Given the description of an element on the screen output the (x, y) to click on. 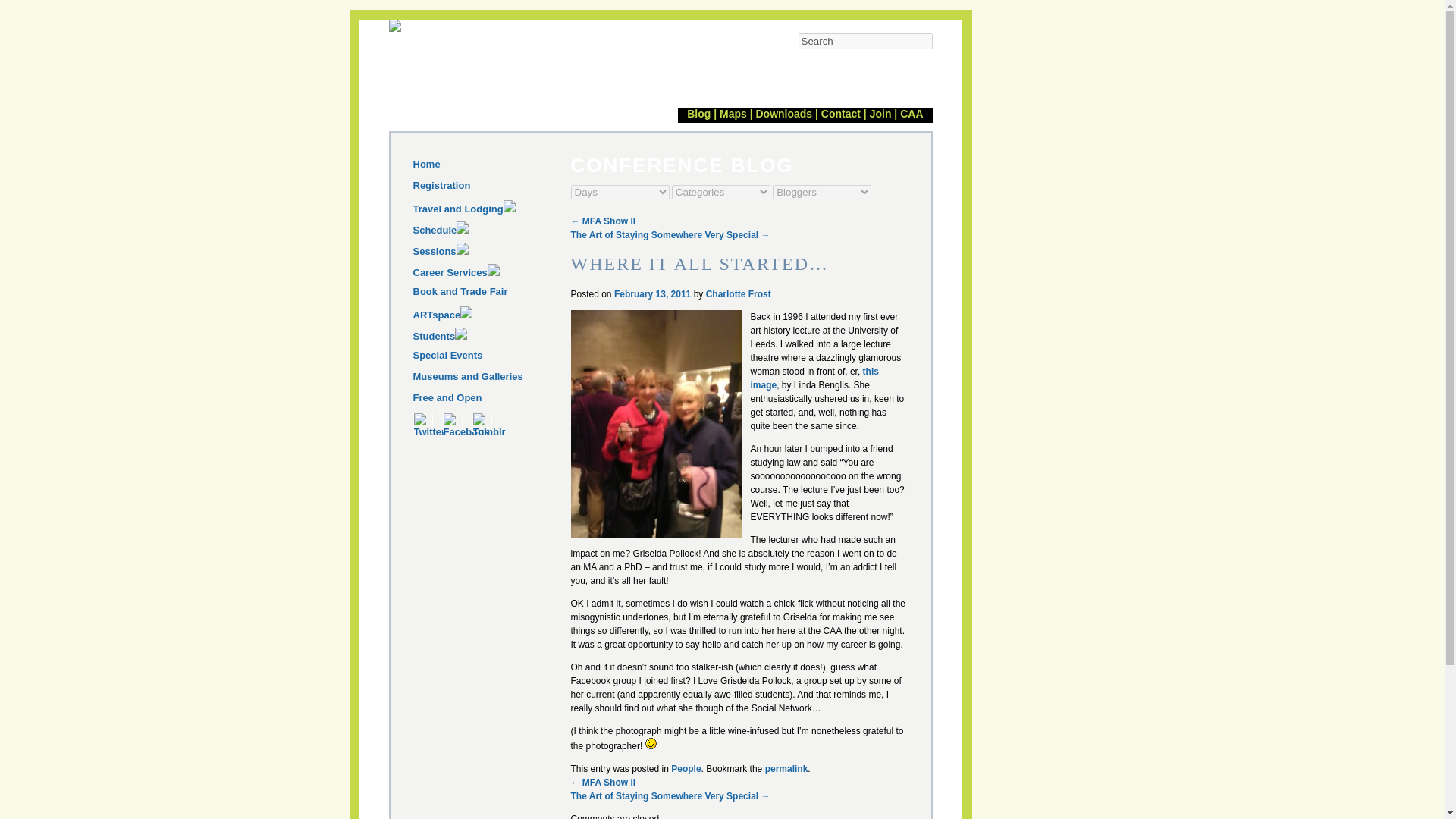
Downloads (783, 113)
Contact (840, 113)
Free and Open (479, 401)
8:41 PM (652, 294)
Blog (698, 113)
View all posts by Charlotte Frost (738, 294)
Museums and Galleries (479, 380)
CAA (911, 113)
Join (880, 113)
Book and Trade Fair (479, 252)
Home (479, 168)
DSCN1217 (655, 423)
Search (864, 41)
Registration (479, 189)
Maps (732, 113)
